Given the description of an element on the screen output the (x, y) to click on. 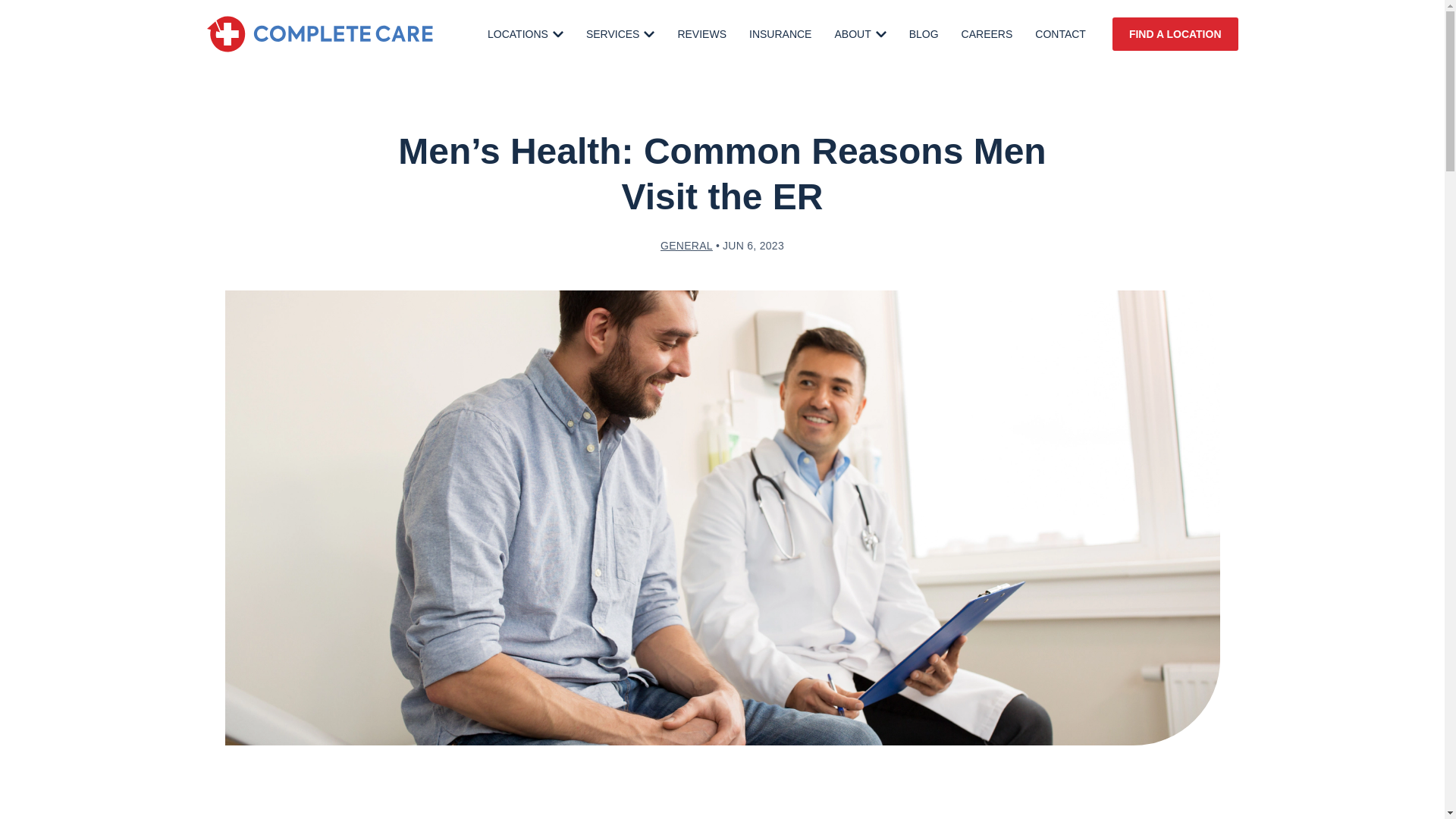
FIND A LOCATION (1175, 33)
LOCATIONS (525, 33)
INSURANCE (779, 33)
SERVICES (620, 33)
